Given the description of an element on the screen output the (x, y) to click on. 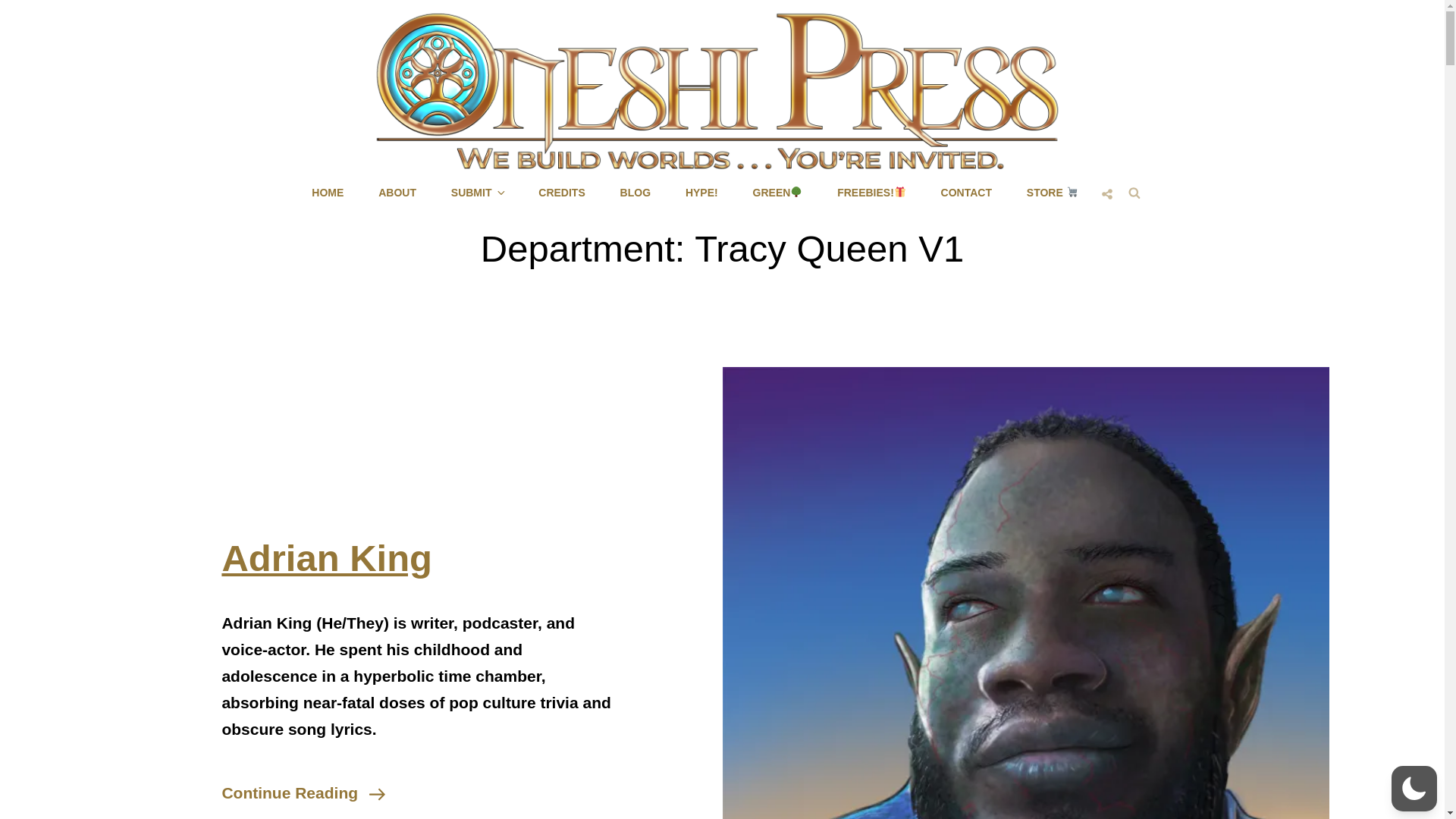
BLOG (635, 192)
CONTACT (966, 192)
GREEN (778, 192)
About us: Why we do it (396, 192)
Updates: When we do things (635, 192)
Credits: Who we are (560, 192)
Contact: Where to reach us (966, 192)
HYPE! (701, 192)
Projects: What we do (327, 192)
ONESHI PRESS (794, 181)
CREDITS (560, 192)
ABOUT (396, 192)
SUBMIT (303, 792)
